Given the description of an element on the screen output the (x, y) to click on. 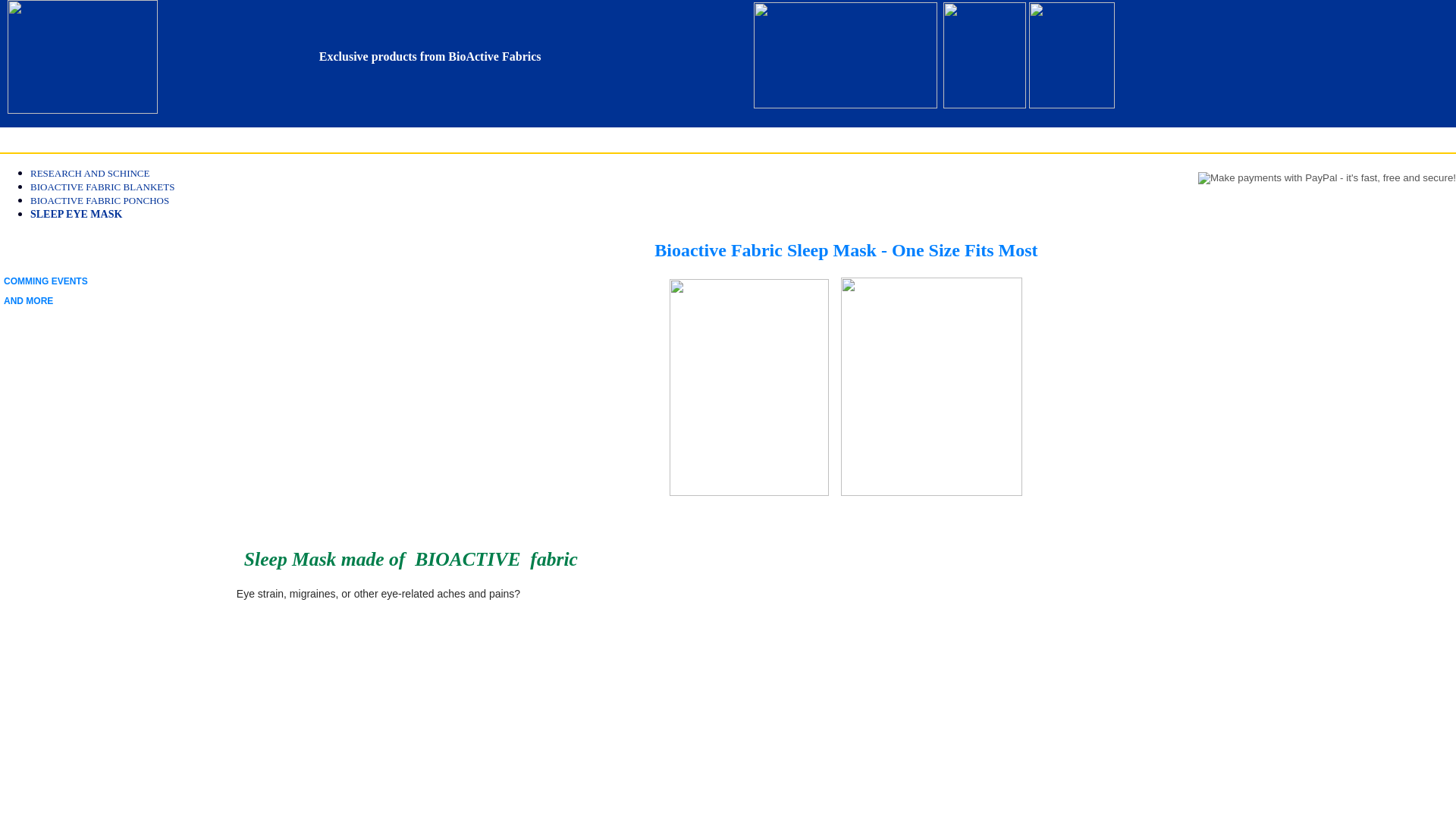
RESEARCH AND SCHINCE (89, 173)
BIOACTIVE FABRIC BLANKETS (102, 186)
BIOACTIVE FABRICS (63, 139)
POLICY (157, 140)
BIOACTIVE FABRIC PONCHOS (99, 200)
MANDALA DOT ART (242, 140)
SLEEP EYE MASK (76, 214)
